Given the description of an element on the screen output the (x, y) to click on. 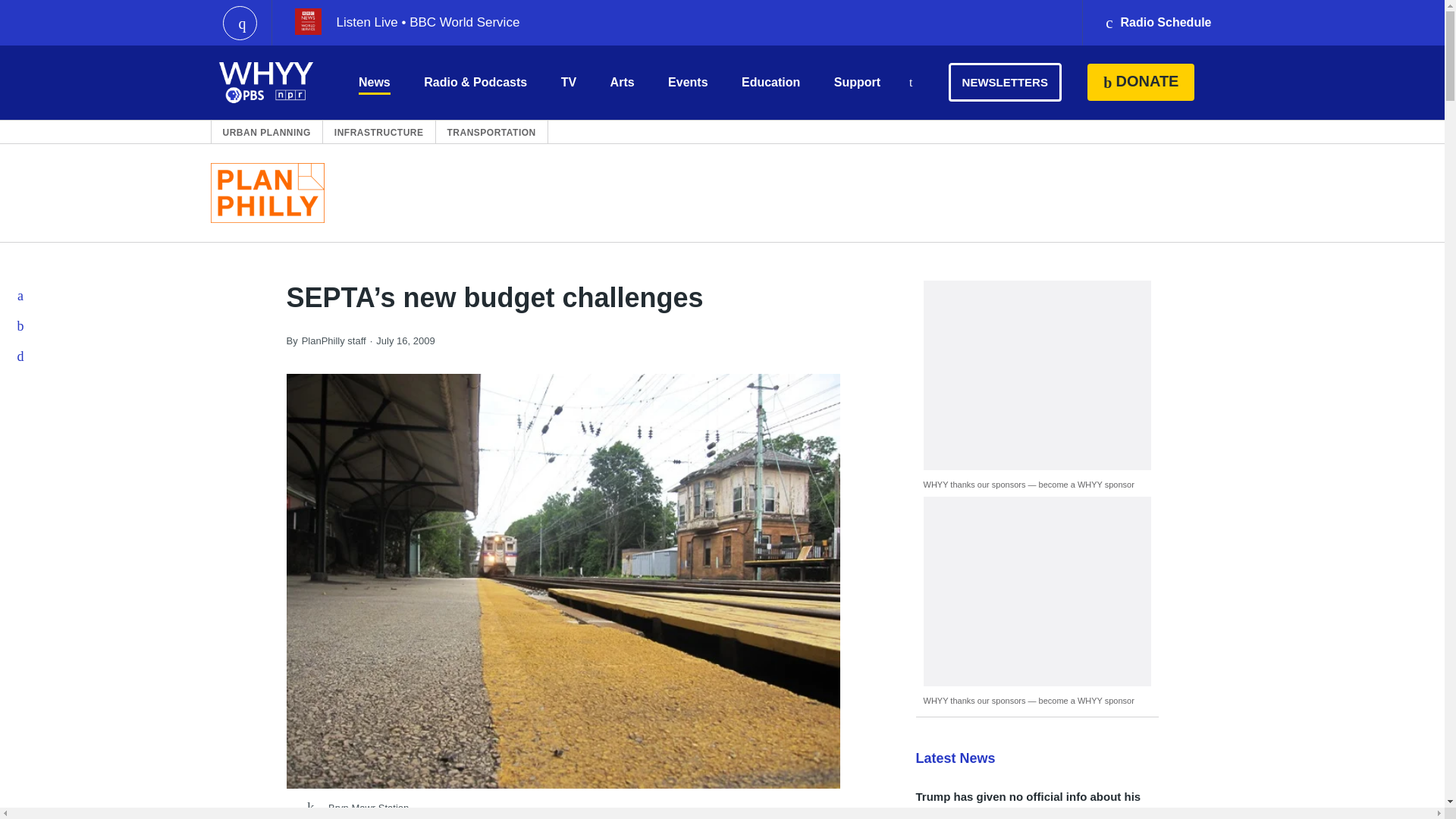
INFRASTRUCTURE (378, 132)
URBAN PLANNING (266, 132)
Twitter (21, 326)
WHYY (266, 82)
Email (21, 356)
plan-philly-masthead-sm (267, 192)
TRANSPORTATION (490, 132)
Facebook (21, 295)
Radio Schedule (1157, 22)
Search (910, 83)
